Given the description of an element on the screen output the (x, y) to click on. 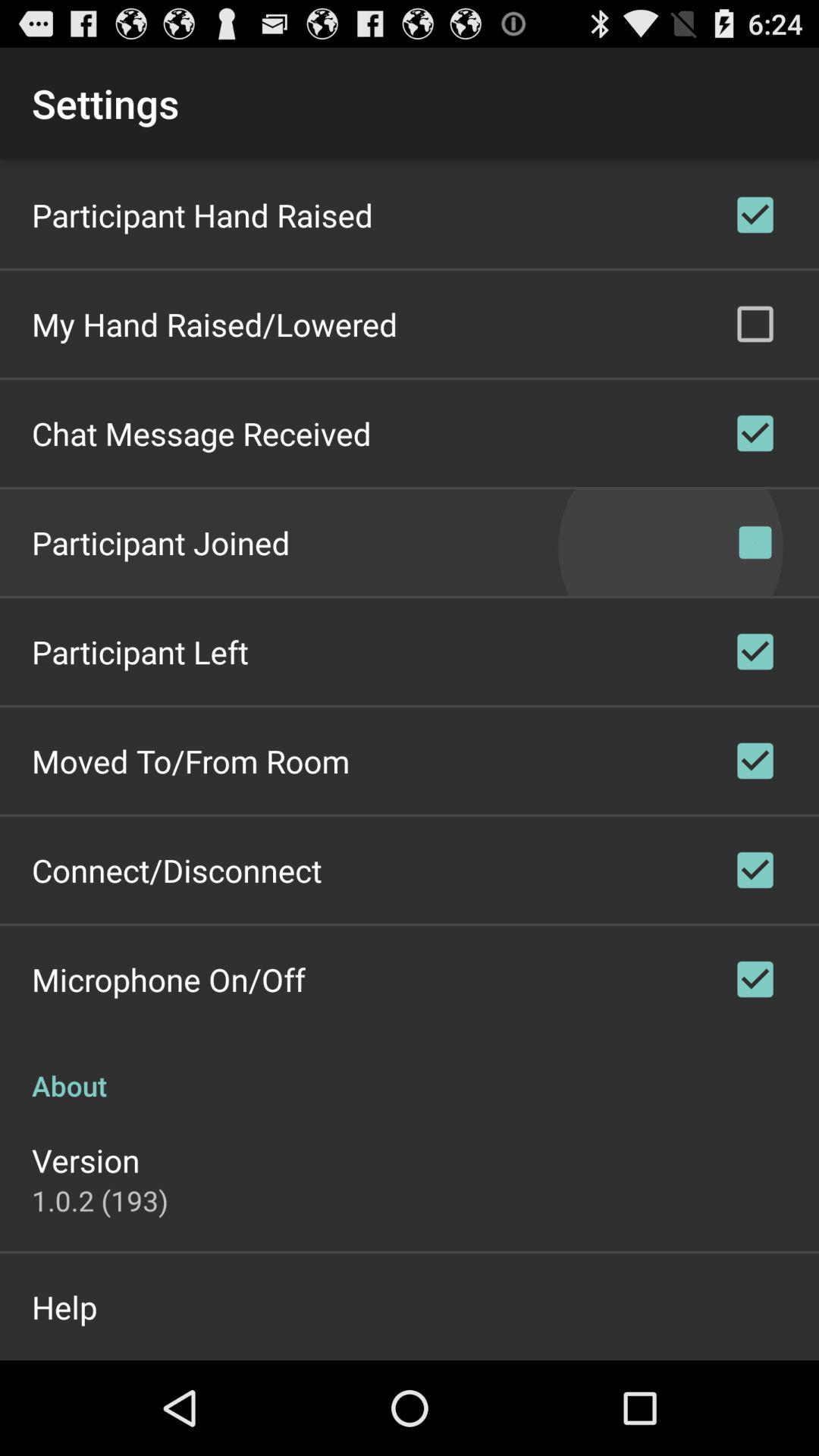
scroll until the help item (64, 1306)
